Given the description of an element on the screen output the (x, y) to click on. 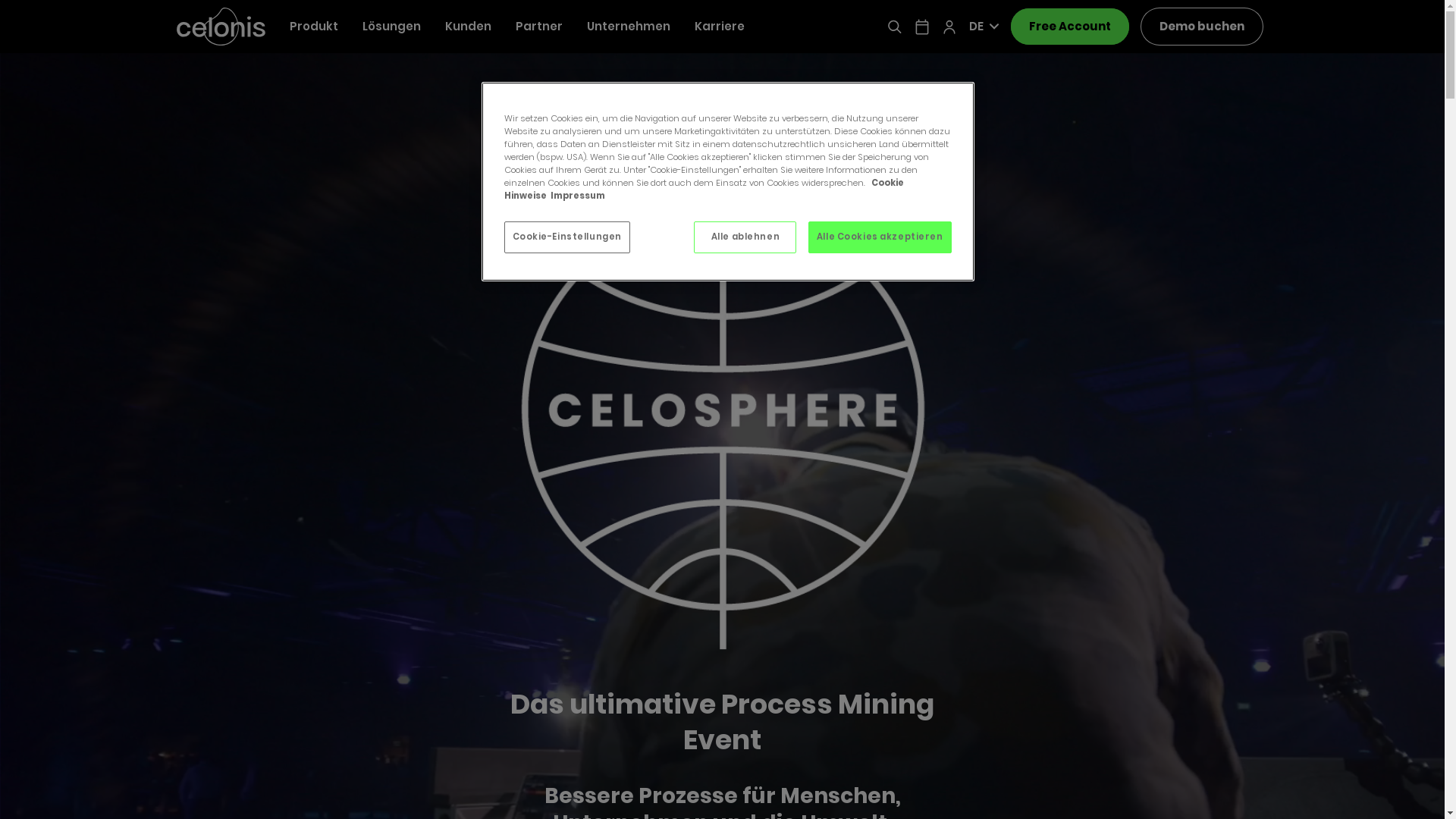
Kunden Element type: text (467, 26)
Demo buchen Element type: text (1200, 26)
Free Account Element type: text (1069, 26)
